Given the description of an element on the screen output the (x, y) to click on. 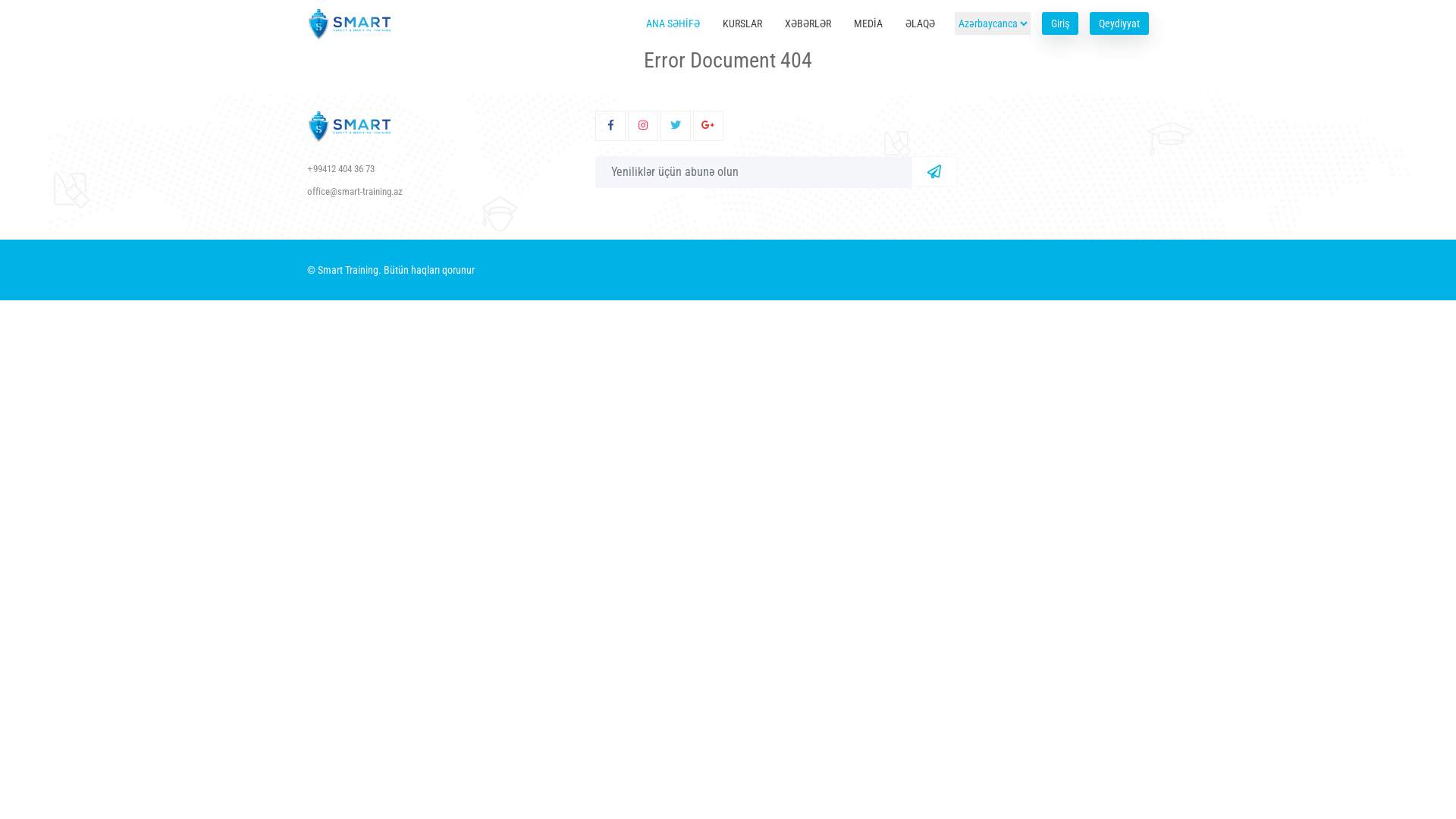
MEDIA
(CURRENT) Element type: text (868, 23)
KURSLAR
(CURRENT) Element type: text (742, 23)
Smart Training. Element type: text (350, 269)
Qeydiyyat Element type: text (1118, 23)
